Given the description of an element on the screen output the (x, y) to click on. 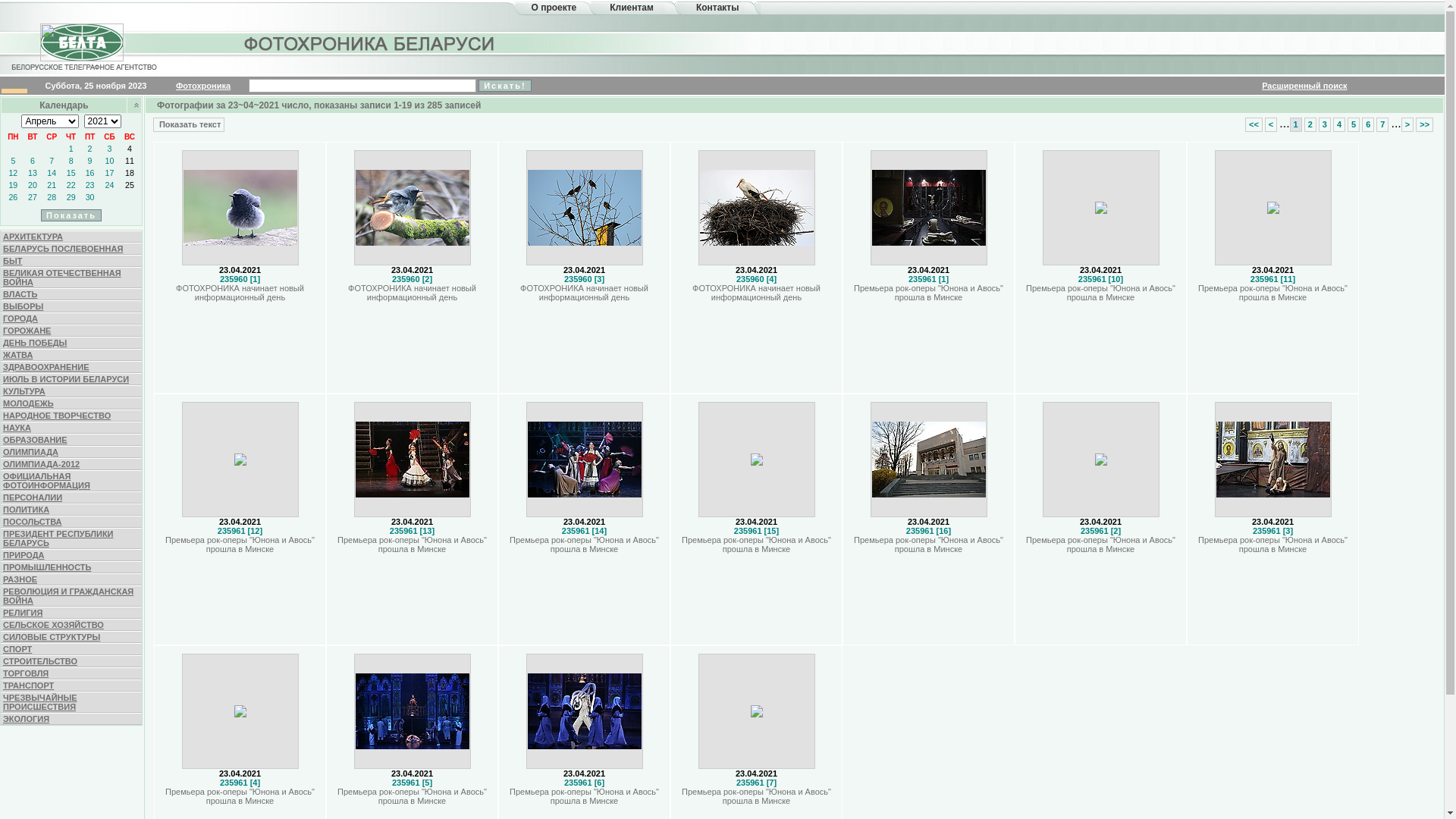
< Element type: text (1270, 123)
2 Element type: text (89, 148)
7 Element type: text (1382, 123)
25 Element type: text (129, 184)
20 Element type: text (32, 184)
5 Element type: text (1353, 123)
12 Element type: text (12, 172)
2 Element type: text (1310, 123)
28 Element type: text (51, 196)
26 Element type: text (12, 196)
19 Element type: text (12, 184)
16 Element type: text (89, 172)
29 Element type: text (70, 196)
27 Element type: text (32, 196)
6 Element type: text (32, 160)
17 Element type: text (109, 172)
13 Element type: text (32, 172)
24 Element type: text (109, 184)
3 Element type: text (109, 148)
> Element type: text (1407, 123)
10 Element type: text (109, 160)
30 Element type: text (89, 196)
5 Element type: text (12, 160)
7 Element type: text (51, 160)
1 Element type: text (71, 148)
8 Element type: text (71, 160)
14 Element type: text (51, 172)
23 Element type: text (89, 184)
15 Element type: text (70, 172)
4 Element type: text (1339, 123)
11 Element type: text (129, 160)
6 Element type: text (1367, 123)
21 Element type: text (51, 184)
18 Element type: text (129, 172)
4 Element type: text (129, 148)
9 Element type: text (89, 160)
3 Element type: text (1324, 123)
>> Element type: text (1424, 123)
22 Element type: text (70, 184)
1 Element type: text (1295, 123)
<< Element type: text (1253, 123)
